Given the description of an element on the screen output the (x, y) to click on. 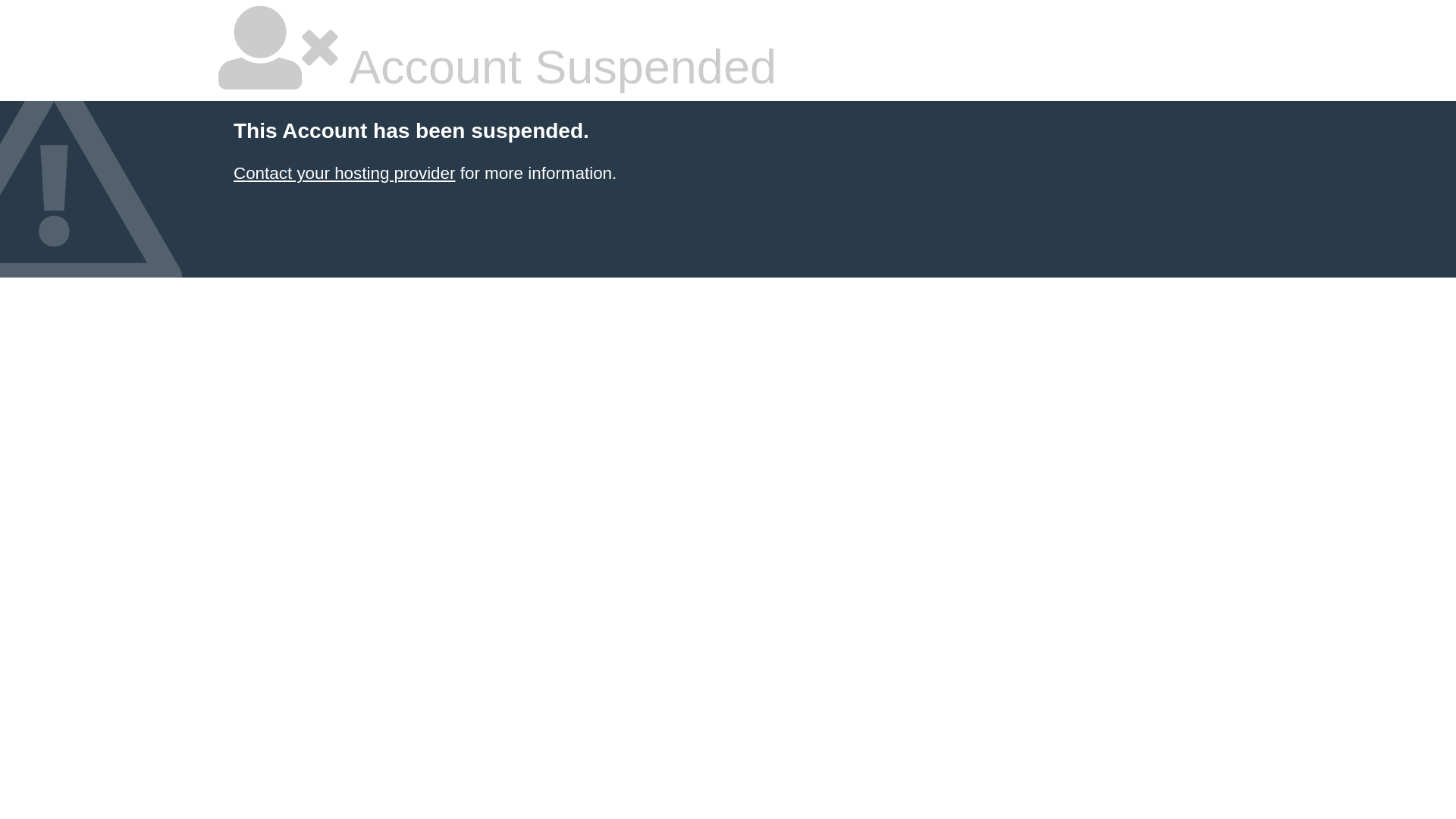
Contact your hosting provider Element type: text (344, 172)
